Given the description of an element on the screen output the (x, y) to click on. 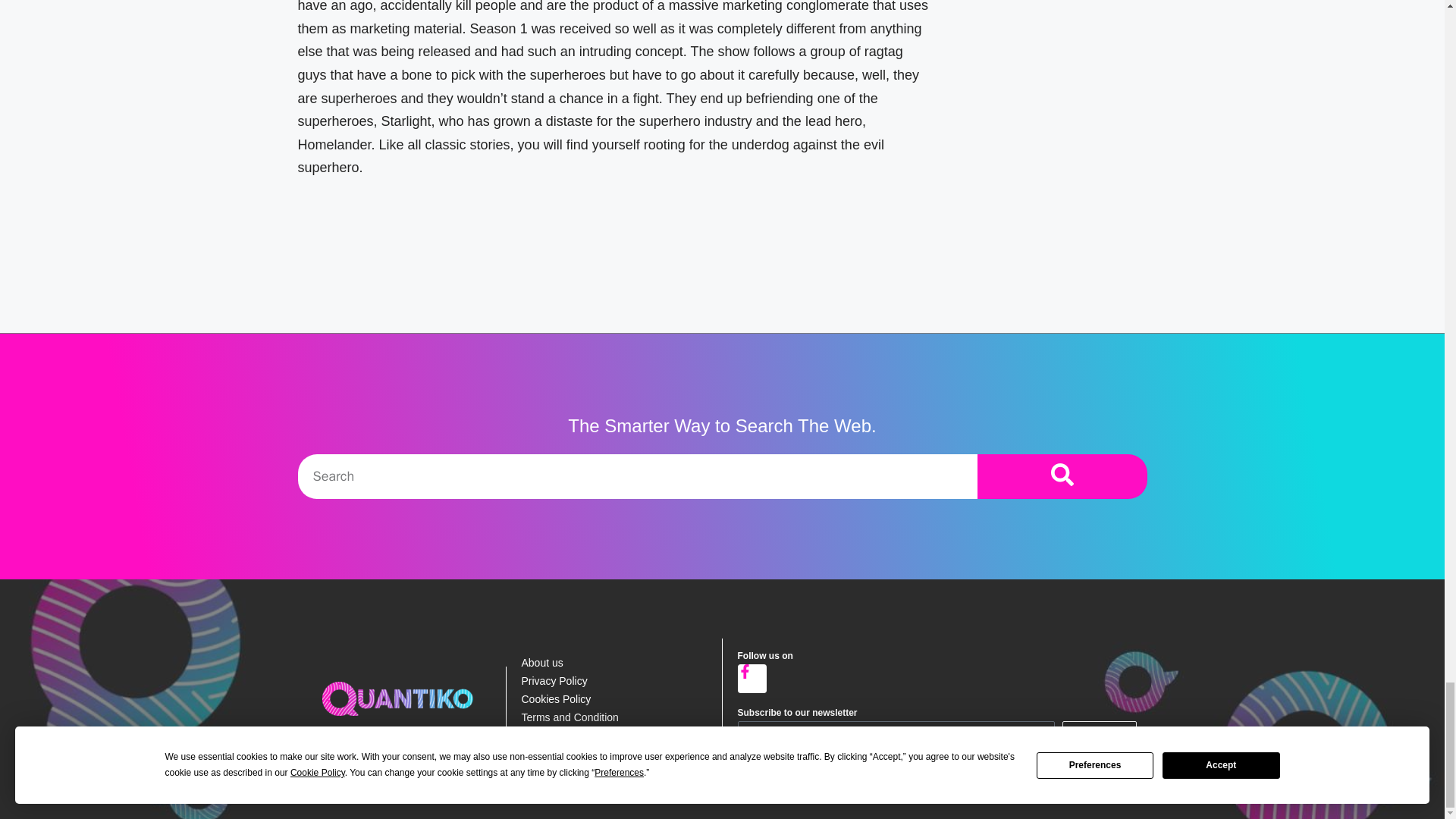
Privacy Policy (613, 680)
Cookies Policy (613, 699)
SEND (1098, 733)
About us (613, 662)
Terms and Condition (613, 717)
Contact (613, 735)
